Given the description of an element on the screen output the (x, y) to click on. 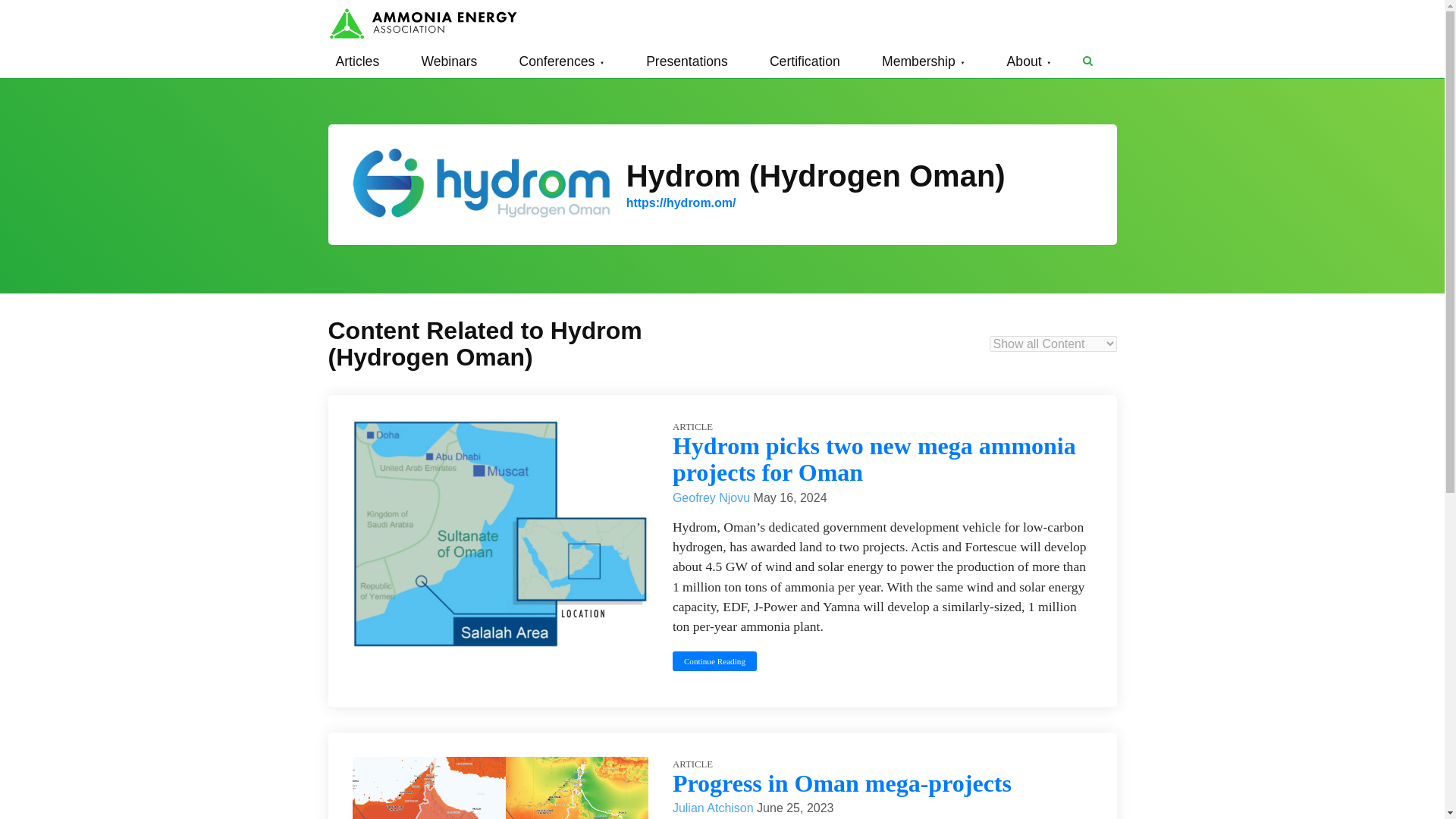
Webinars (448, 60)
Progress in Oman mega-projects (841, 782)
Hydrom picks two new mega ammonia projects for Oman (873, 459)
Conferences (561, 60)
Articles (357, 60)
Geofrey Njovu (713, 497)
About (1028, 60)
Search (1088, 61)
Julian Atchison (714, 807)
Membership (923, 60)
